Given the description of an element on the screen output the (x, y) to click on. 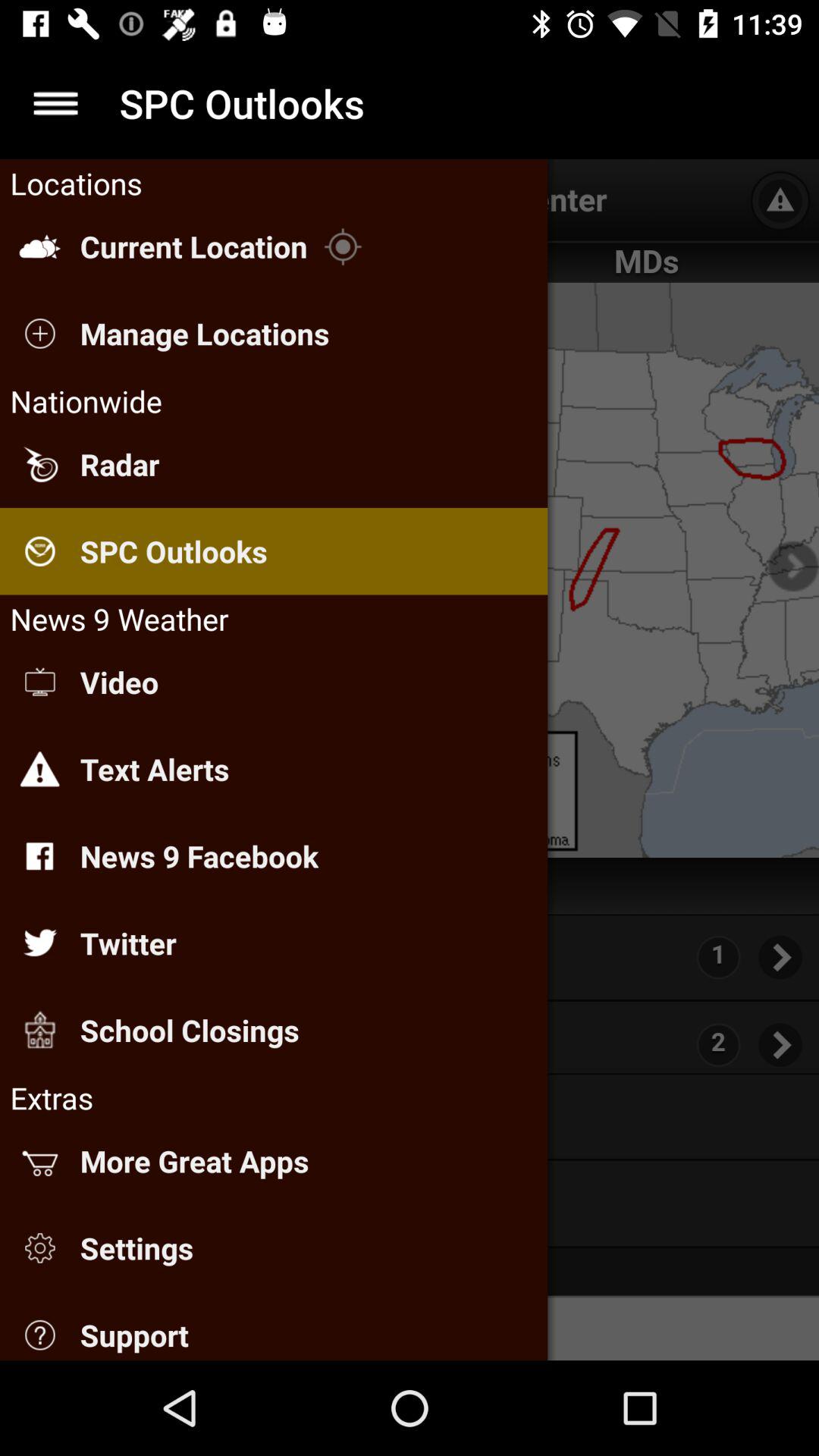
menu (55, 103)
